Given the description of an element on the screen output the (x, y) to click on. 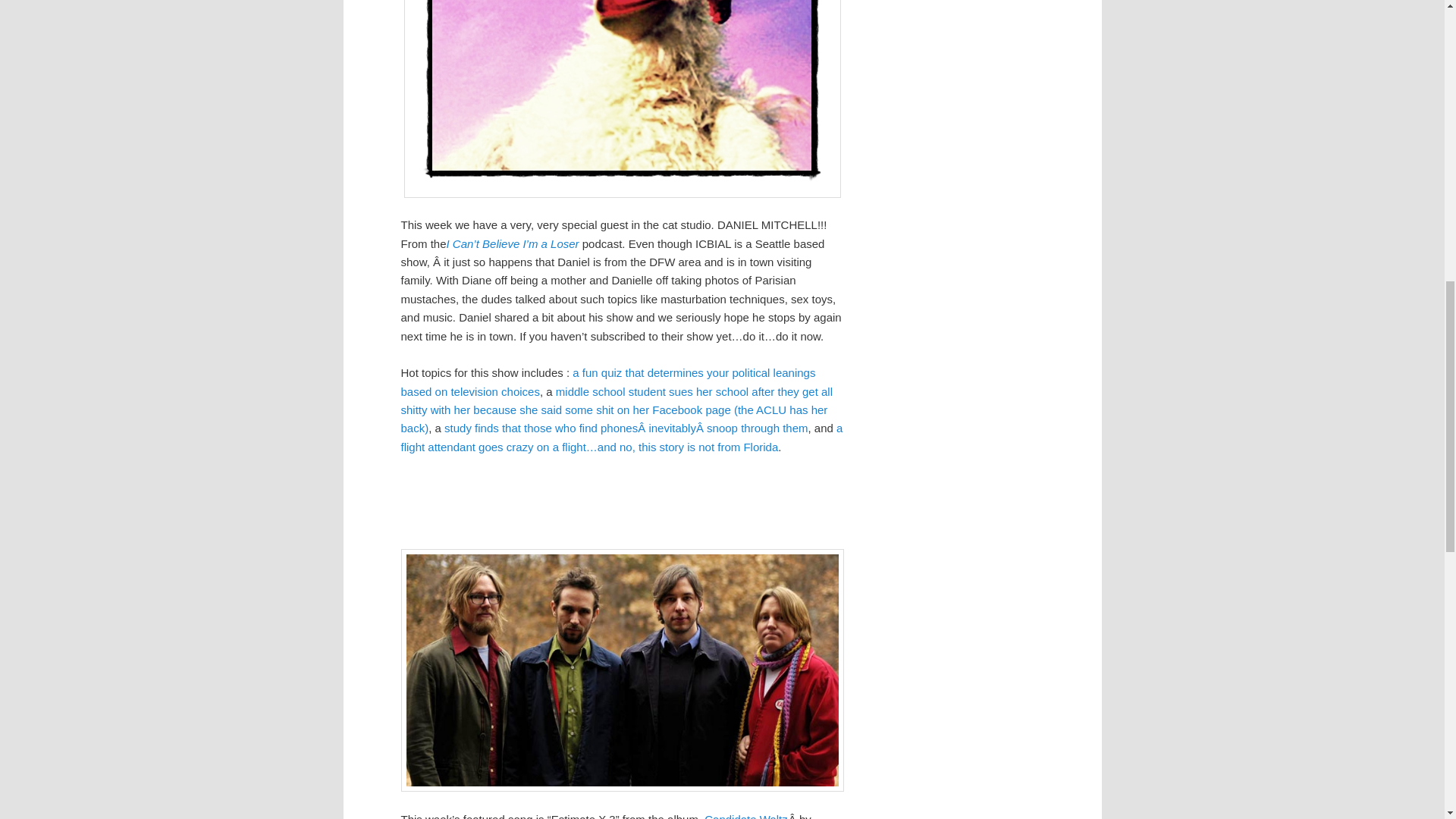
centromatic (621, 669)
Candidate Waltz (745, 816)
99 (621, 99)
